Given the description of an element on the screen output the (x, y) to click on. 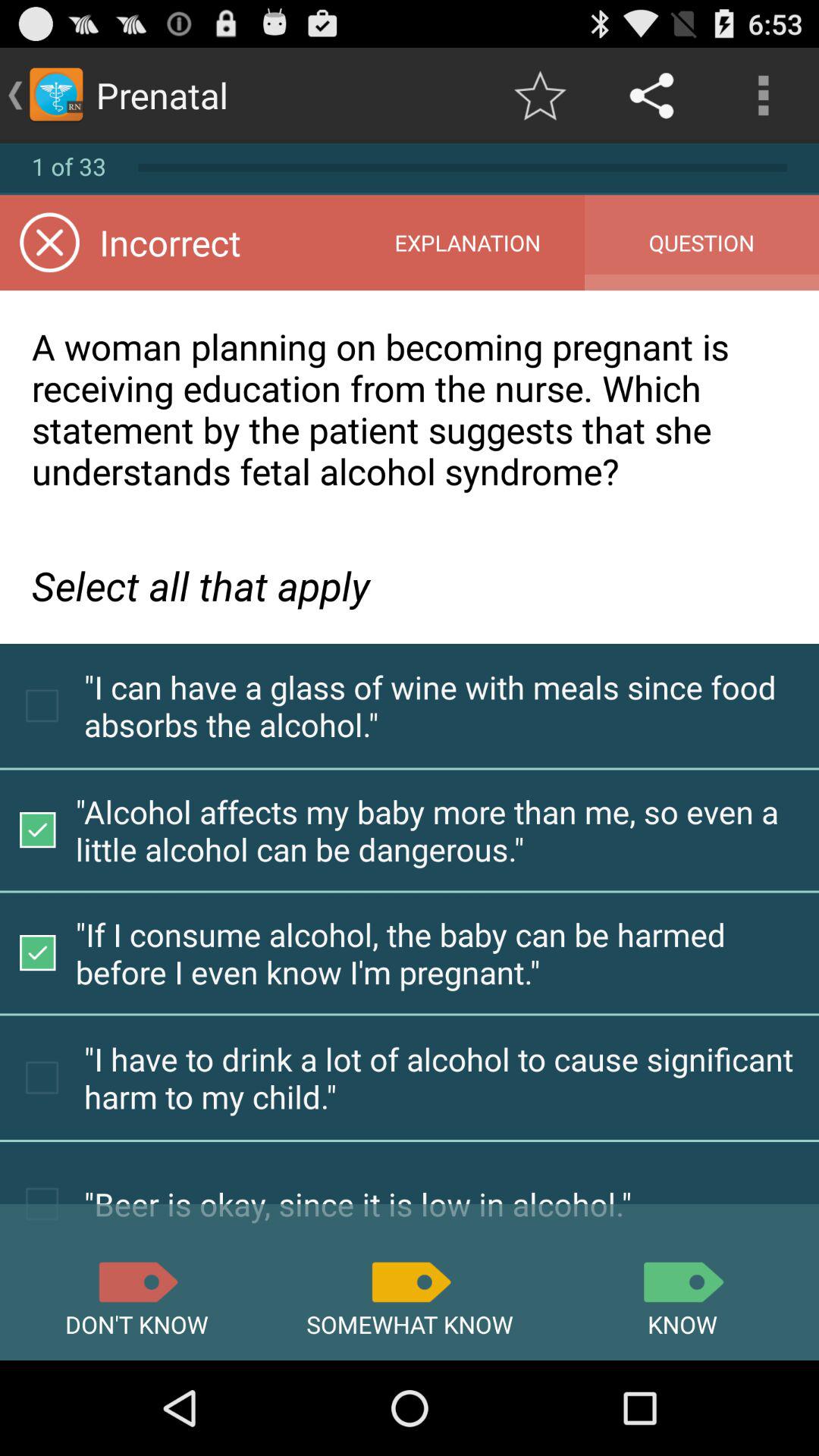
assert option (682, 1281)
